Given the description of an element on the screen output the (x, y) to click on. 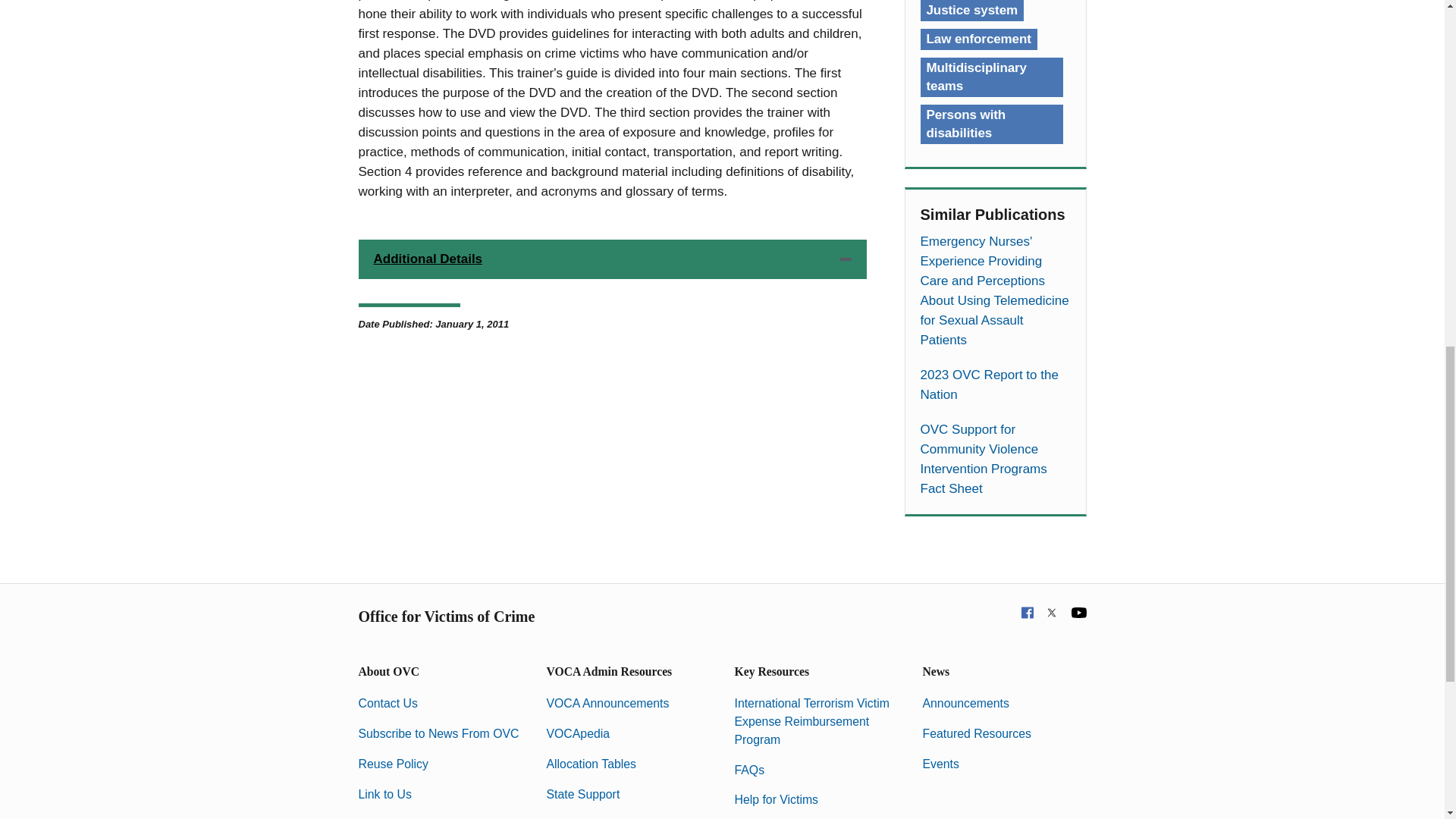
Persons with disabilities (991, 124)
Law enforcement (978, 38)
2023 OVC Report to the Nation (995, 384)
Multidisciplinary teams (991, 77)
Justice system (972, 10)
Additional Details (612, 259)
